Given the description of an element on the screen output the (x, y) to click on. 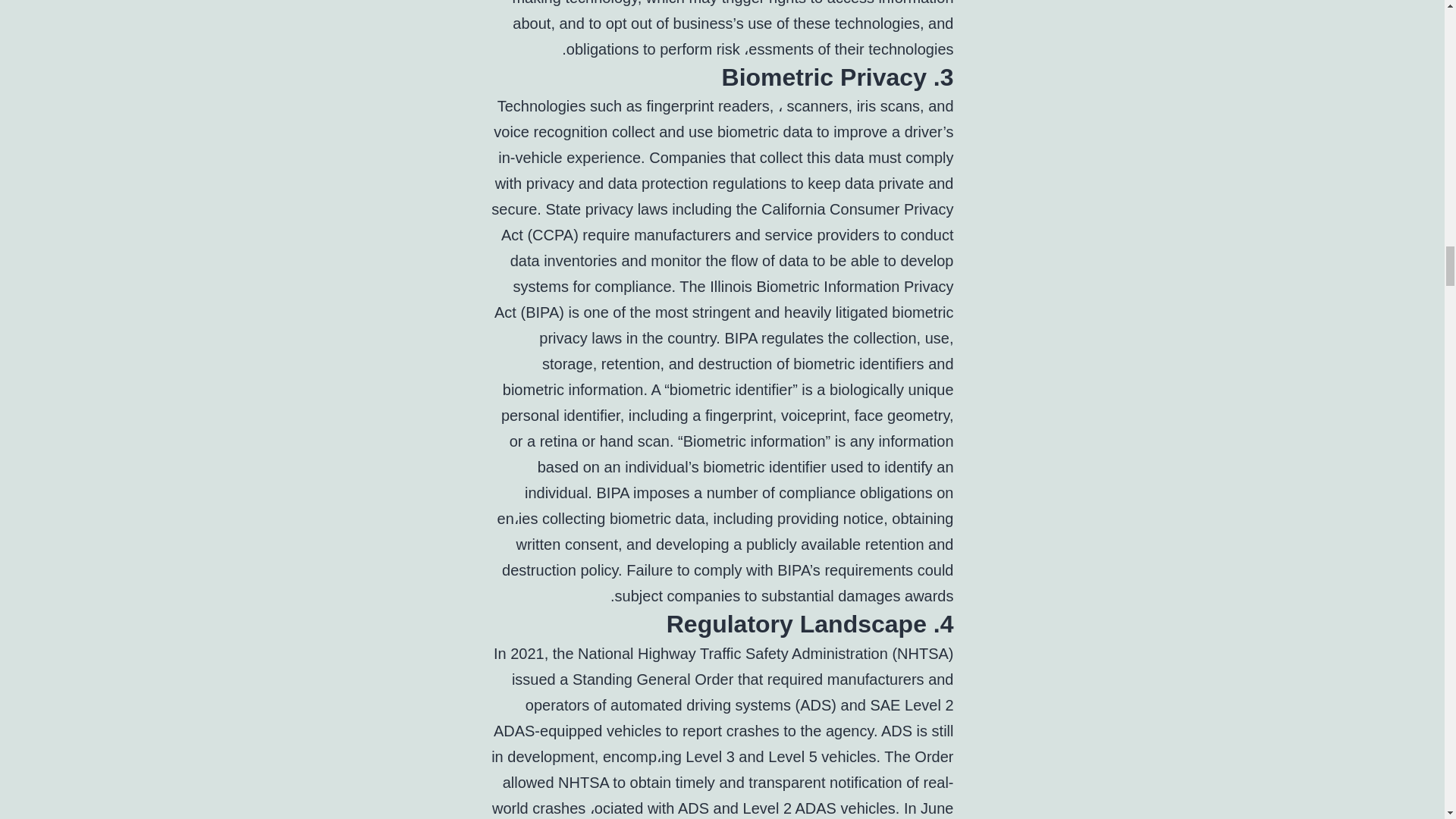
Standing General Order (652, 678)
CCPA (552, 234)
substantial damages awards. (781, 596)
heavily litigated (836, 312)
